Given the description of an element on the screen output the (x, y) to click on. 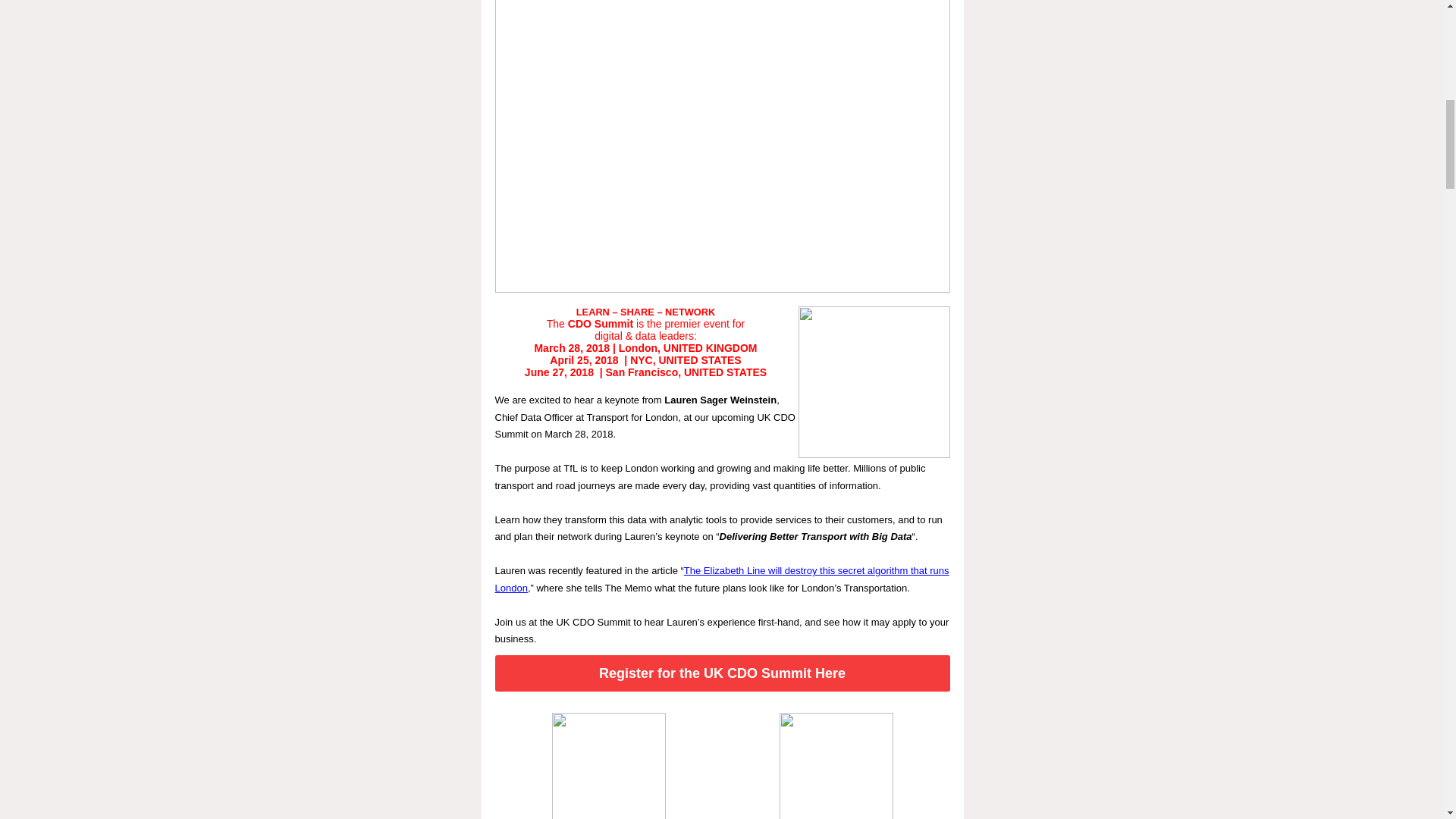
Register for the UK CDO Summit Here  (721, 672)
Register for the UK CDO Summit Here (721, 672)
